Given the description of an element on the screen output the (x, y) to click on. 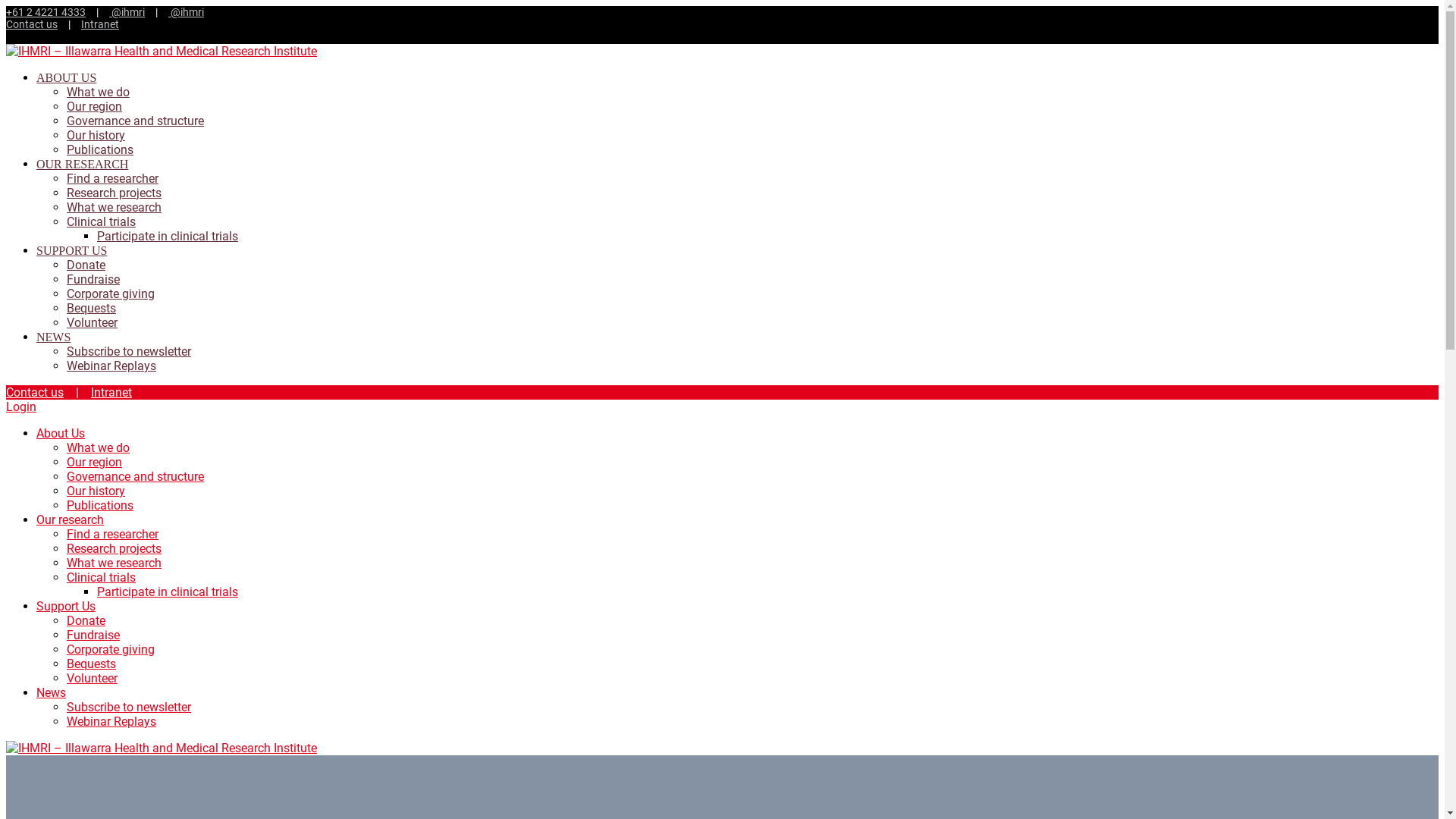
Corporate giving Element type: text (110, 293)
Donate Element type: text (85, 264)
Intranet Element type: text (111, 392)
Participate in clinical trials Element type: text (167, 236)
Publications Element type: text (99, 149)
OUR RESEARCH Element type: text (82, 163)
+61 2 4221 4333 Element type: text (45, 12)
About Us Element type: text (60, 433)
Fundraise Element type: text (92, 634)
News Element type: text (50, 692)
Our region Element type: text (94, 106)
Our history Element type: text (95, 490)
Corporate giving Element type: text (110, 649)
Volunteer Element type: text (91, 322)
Find a researcher Element type: text (112, 178)
Contact us Element type: text (31, 24)
ABOUT US Element type: text (66, 77)
Participate in clinical trials Element type: text (167, 591)
@ihmri Element type: text (185, 12)
Webinar Replays Element type: text (111, 721)
Volunteer Element type: text (91, 678)
NEWS Element type: text (53, 336)
Clinical trials Element type: text (100, 577)
What we do Element type: text (97, 91)
Webinar Replays Element type: text (111, 365)
Bequests Element type: text (91, 308)
Publications Element type: text (99, 505)
Support Us Element type: text (65, 606)
Intranet Element type: text (100, 24)
Bequests Element type: text (91, 663)
Fundraise Element type: text (92, 279)
SUPPORT US Element type: text (71, 250)
Subscribe to newsletter Element type: text (128, 351)
Research projects Element type: text (113, 548)
Our region Element type: text (94, 462)
Governance and structure Element type: text (134, 120)
Our history Element type: text (95, 135)
Clinical trials Element type: text (100, 221)
What we research Element type: text (113, 207)
Our research Element type: text (69, 519)
Contact us Element type: text (34, 392)
Governance and structure Element type: text (134, 476)
Find a researcher Element type: text (112, 534)
@ihmri Element type: text (126, 12)
What we research Element type: text (113, 562)
Subscribe to newsletter Element type: text (128, 706)
Login Element type: text (21, 406)
Research projects Element type: text (113, 192)
Donate Element type: text (85, 620)
What we do Element type: text (97, 447)
